Given the description of an element on the screen output the (x, y) to click on. 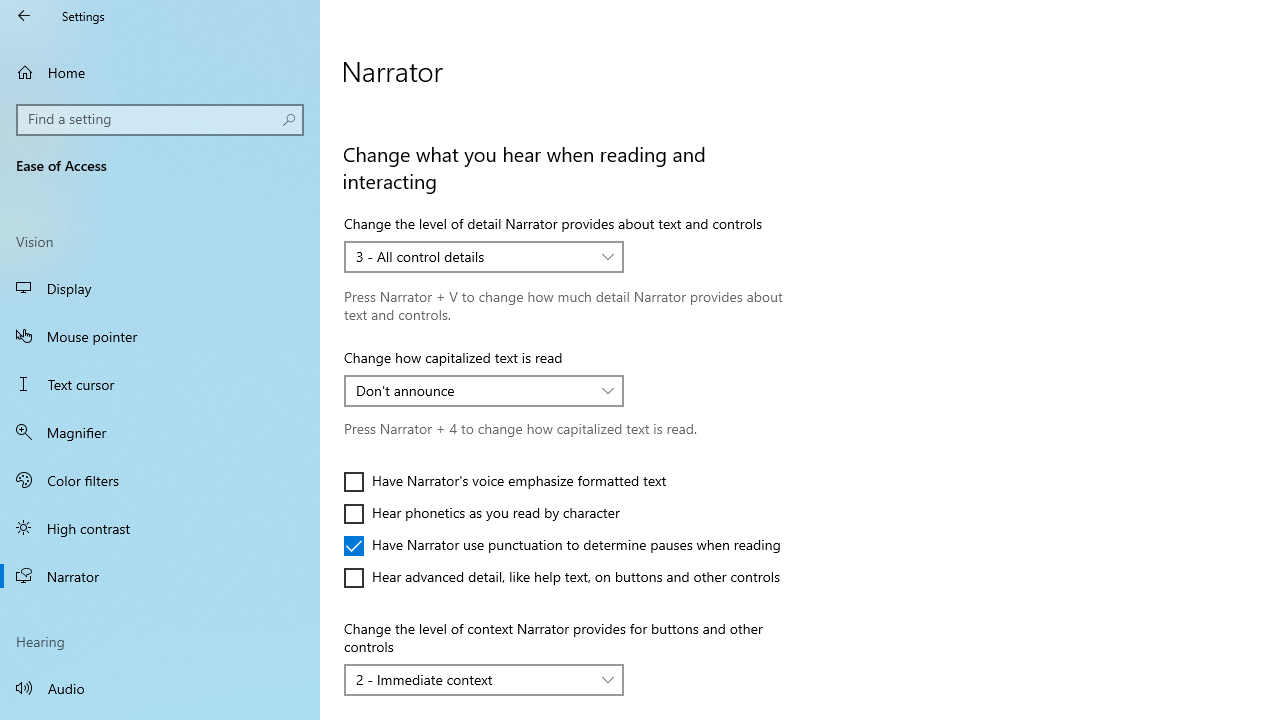
Don't announce (473, 390)
Lower the volume of other apps when Narrator is speaking (539, 5)
Magnifier (160, 431)
Have Narrator's voice emphasize formatted text (505, 481)
Hear phonetics as you read by character (481, 513)
Color filters (160, 479)
Search box, Find a setting (160, 119)
Back (24, 15)
Change how capitalized text is read (484, 390)
Mouse pointer (160, 335)
2 - Immediate context (473, 679)
Display (160, 287)
Text cursor (160, 384)
